Given the description of an element on the screen output the (x, y) to click on. 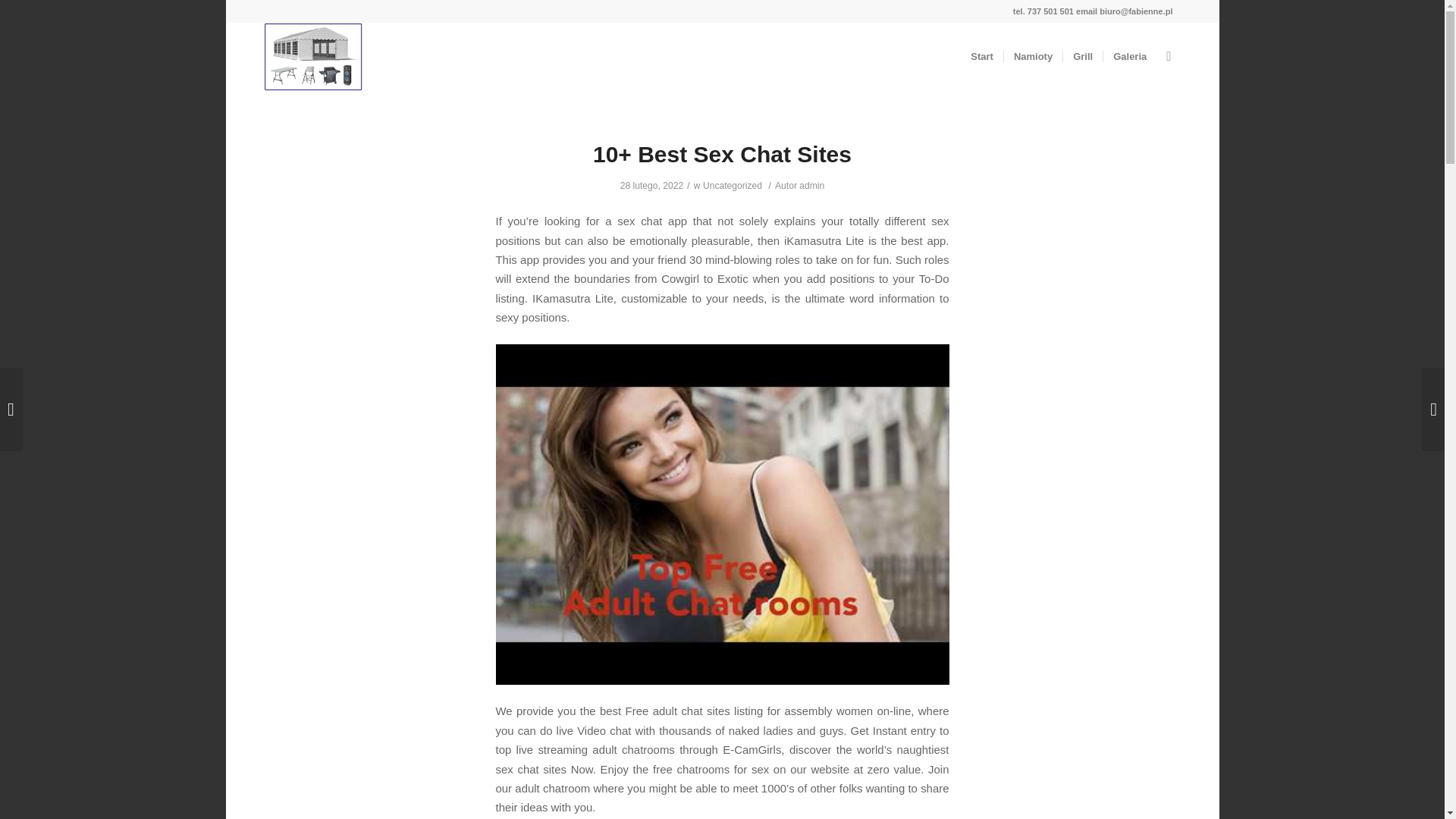
Wpisy od admin (811, 185)
Uncategorized (732, 185)
admin (811, 185)
